Given the description of an element on the screen output the (x, y) to click on. 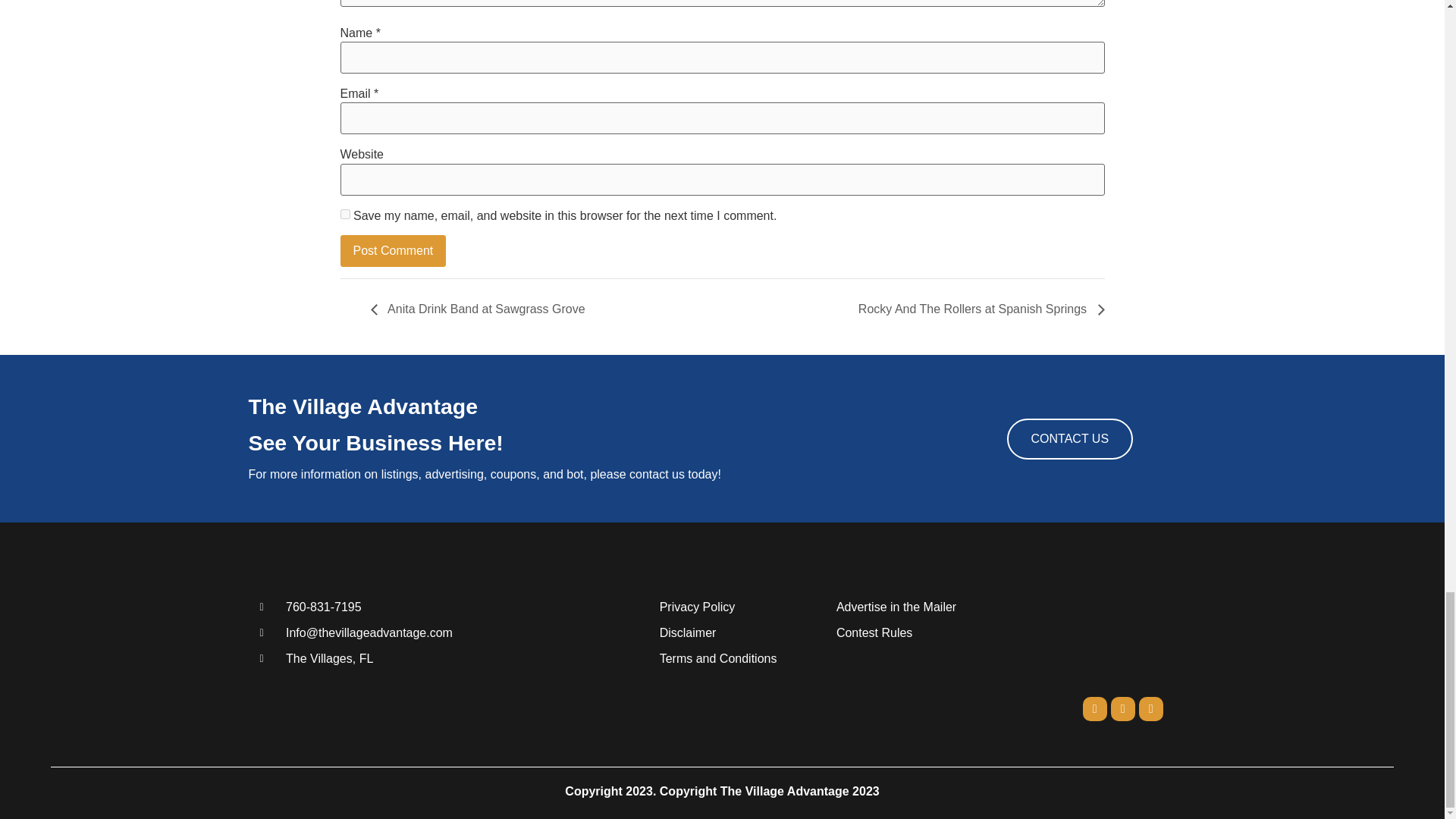
yes (344, 214)
Post Comment (392, 250)
